Given the description of an element on the screen output the (x, y) to click on. 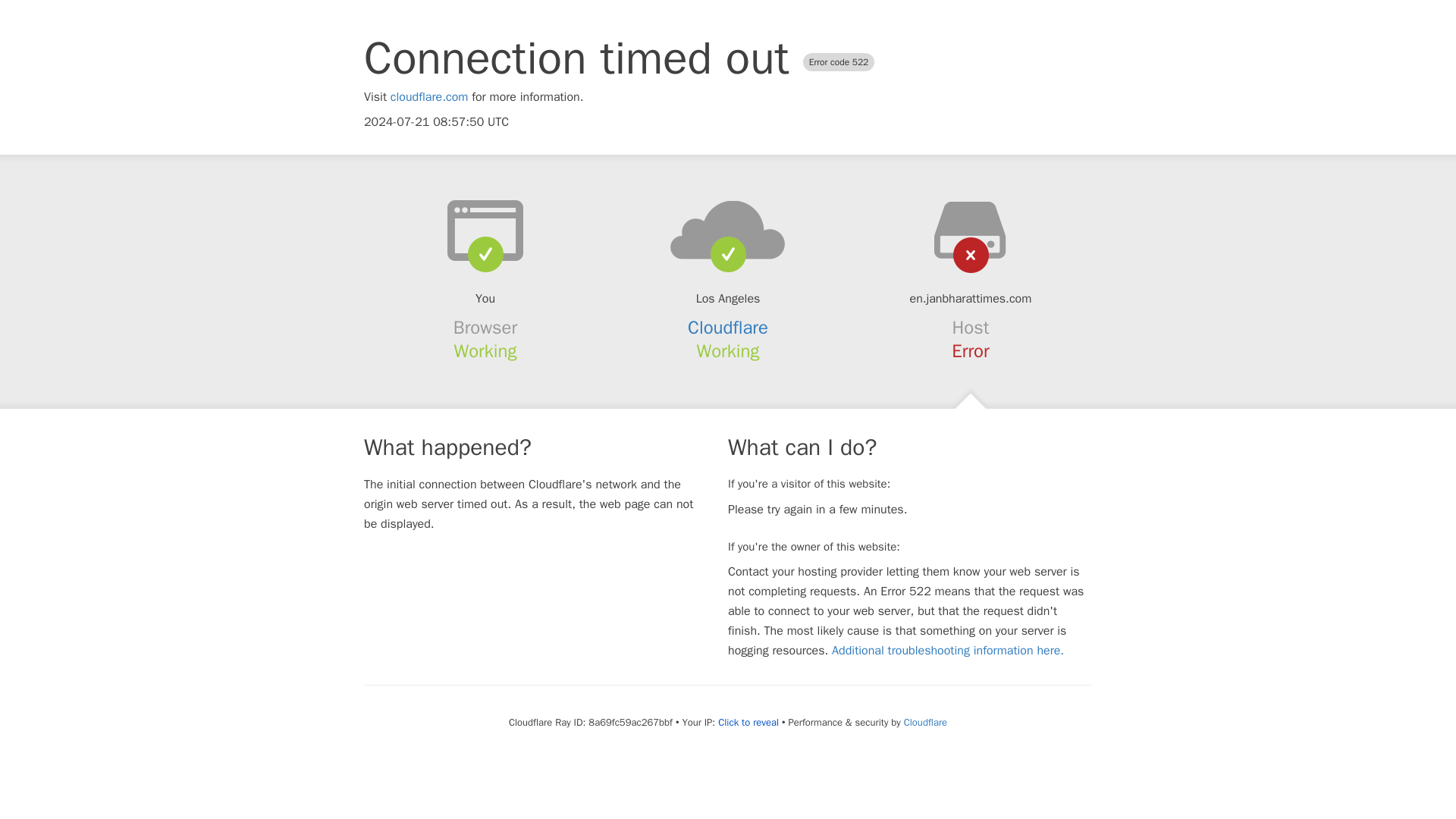
Cloudflare (727, 327)
Click to reveal (747, 722)
Additional troubleshooting information here. (947, 650)
Cloudflare (925, 721)
cloudflare.com (429, 96)
